Given the description of an element on the screen output the (x, y) to click on. 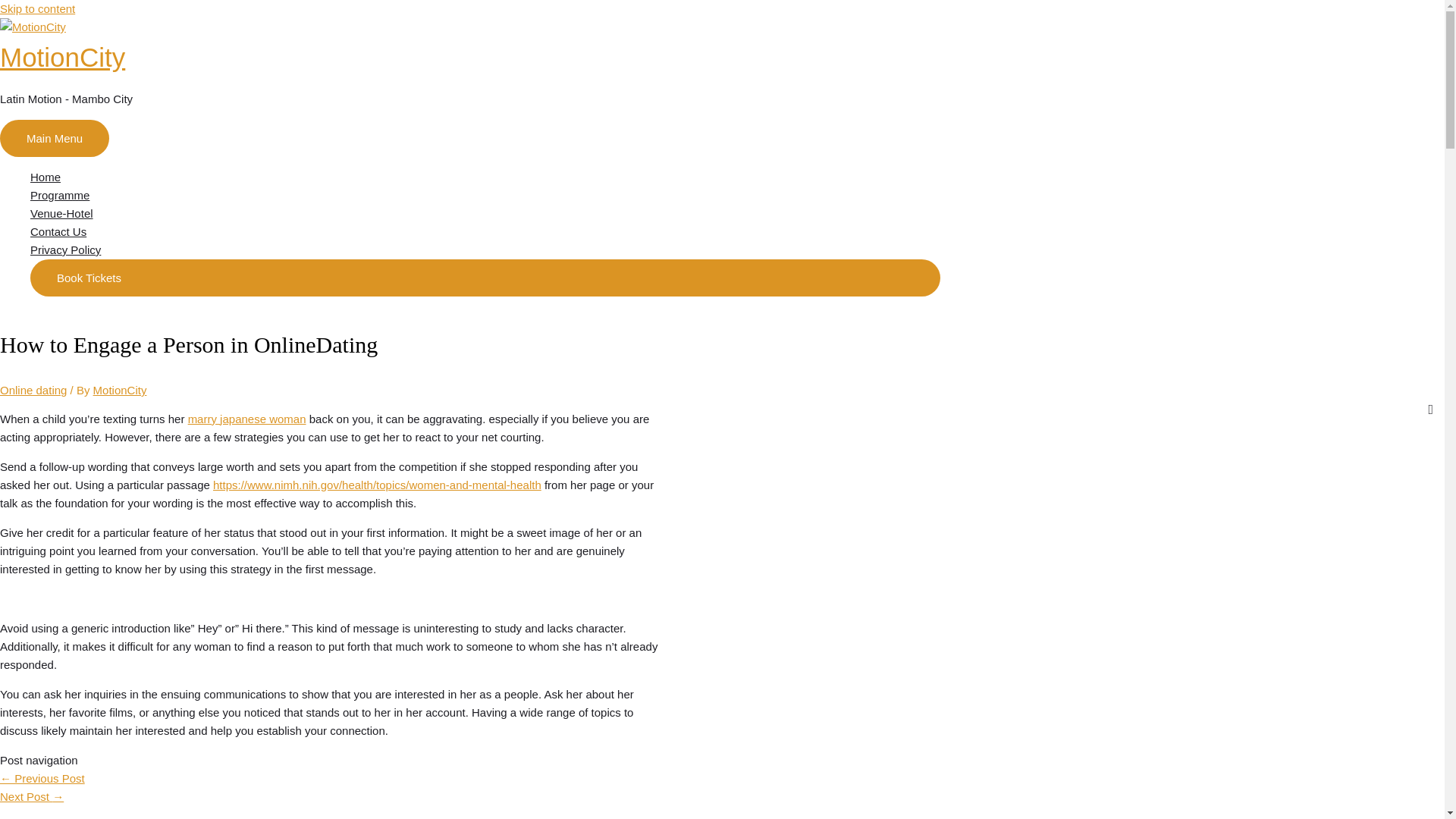
Book Tickets (485, 277)
Programme (485, 195)
marry japanese woman (246, 418)
View all posts by MotionCity (120, 390)
Contact Us (485, 231)
Privacy Policy (485, 249)
Home (485, 177)
Main Menu (54, 138)
MotionCity (62, 57)
MotionCity (120, 390)
Skip to content (37, 8)
Skip to content (37, 8)
Venue-Hotel (485, 213)
Online dating (33, 390)
